Given the description of an element on the screen output the (x, y) to click on. 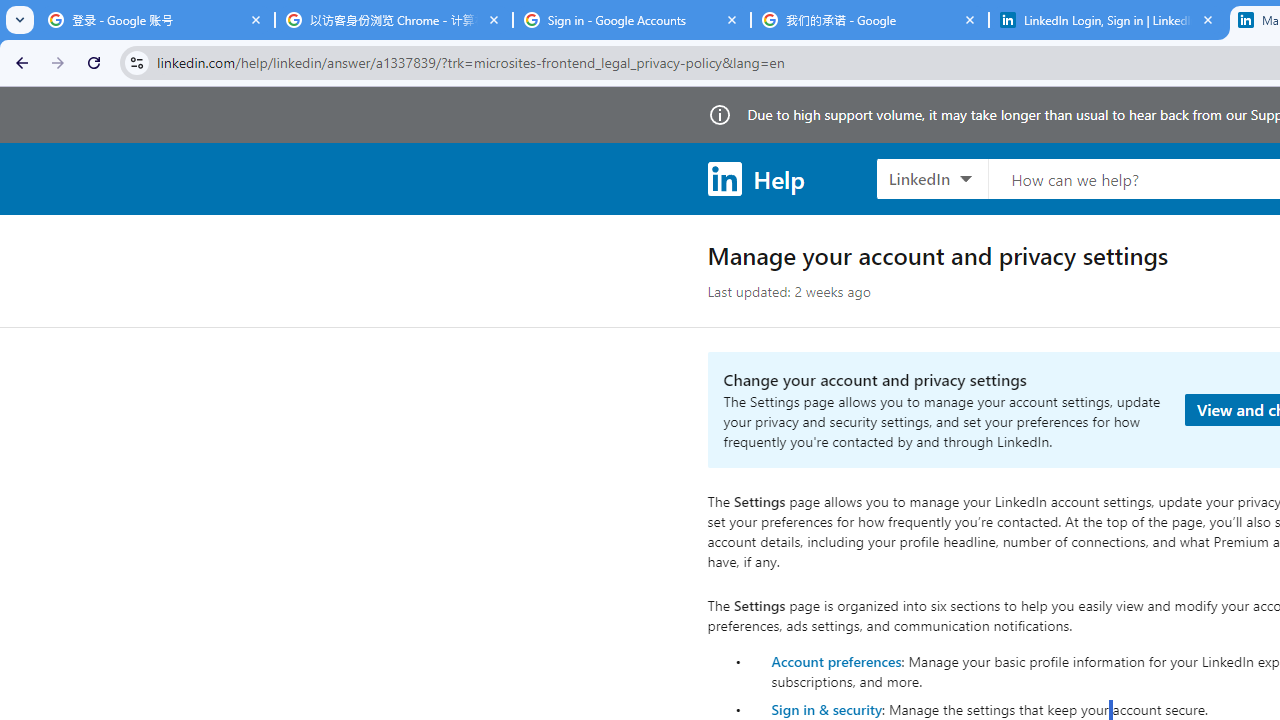
Account preferences (836, 660)
